Given the description of an element on the screen output the (x, y) to click on. 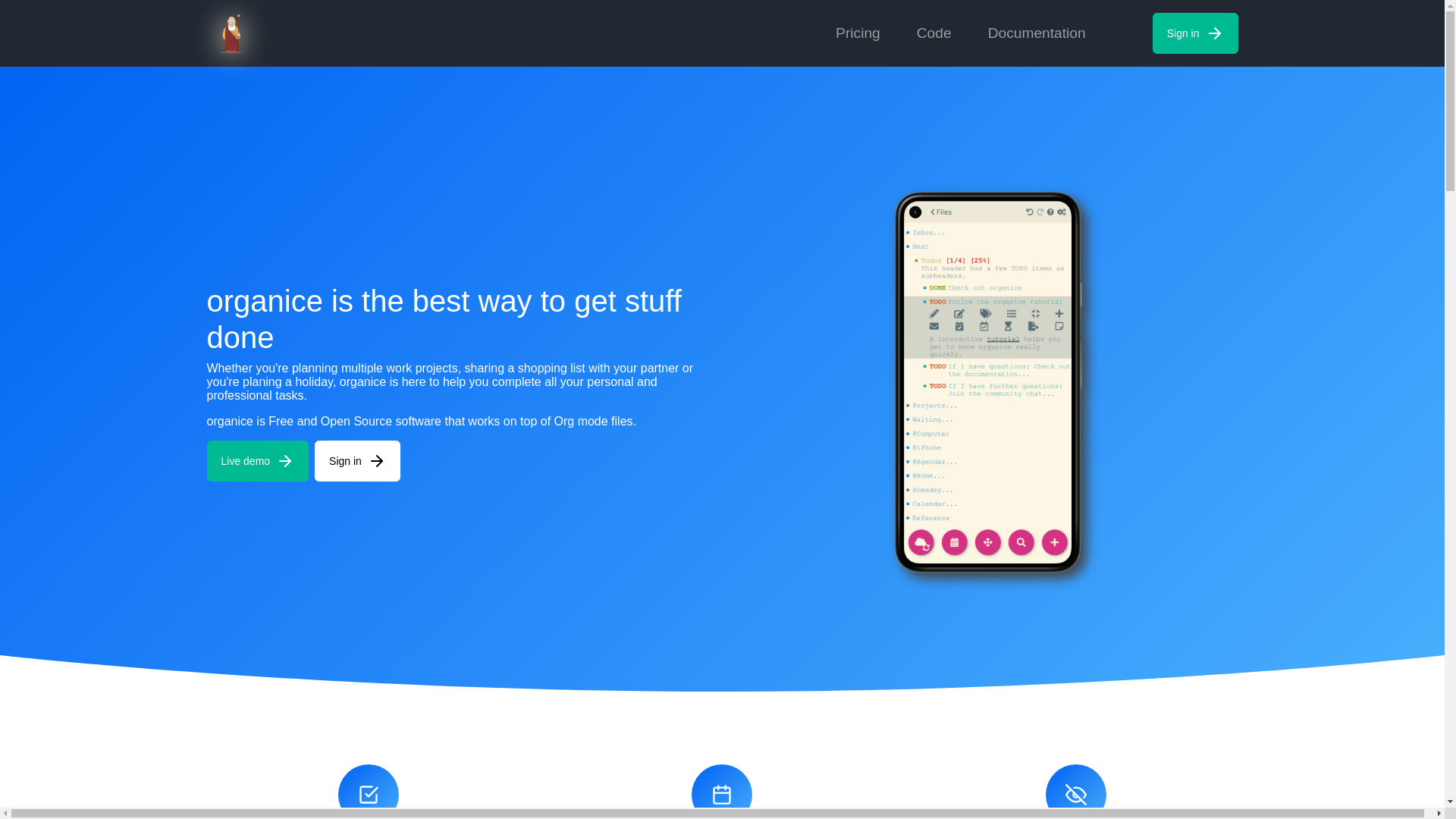
Sign in Element type: text (1195, 32)
Pricing Element type: text (857, 33)
Live demo Element type: text (257, 460)
Code Element type: text (933, 33)
Sign in Element type: text (357, 460)
Documentation Element type: text (1037, 33)
